Given the description of an element on the screen output the (x, y) to click on. 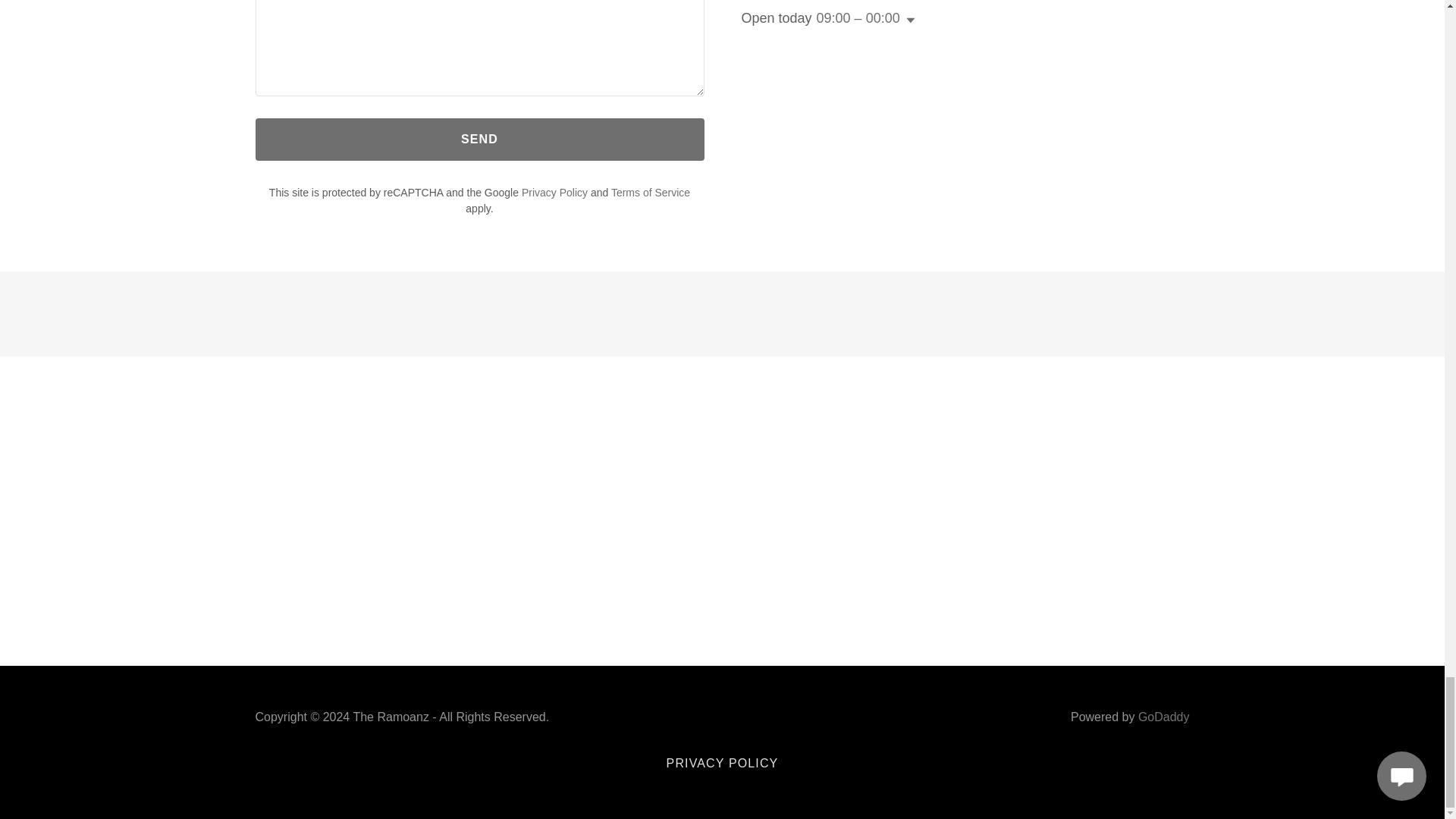
PRIVACY POLICY (722, 763)
SEND (478, 138)
GoDaddy (1163, 716)
Terms of Service (650, 192)
Privacy Policy (554, 192)
